Given the description of an element on the screen output the (x, y) to click on. 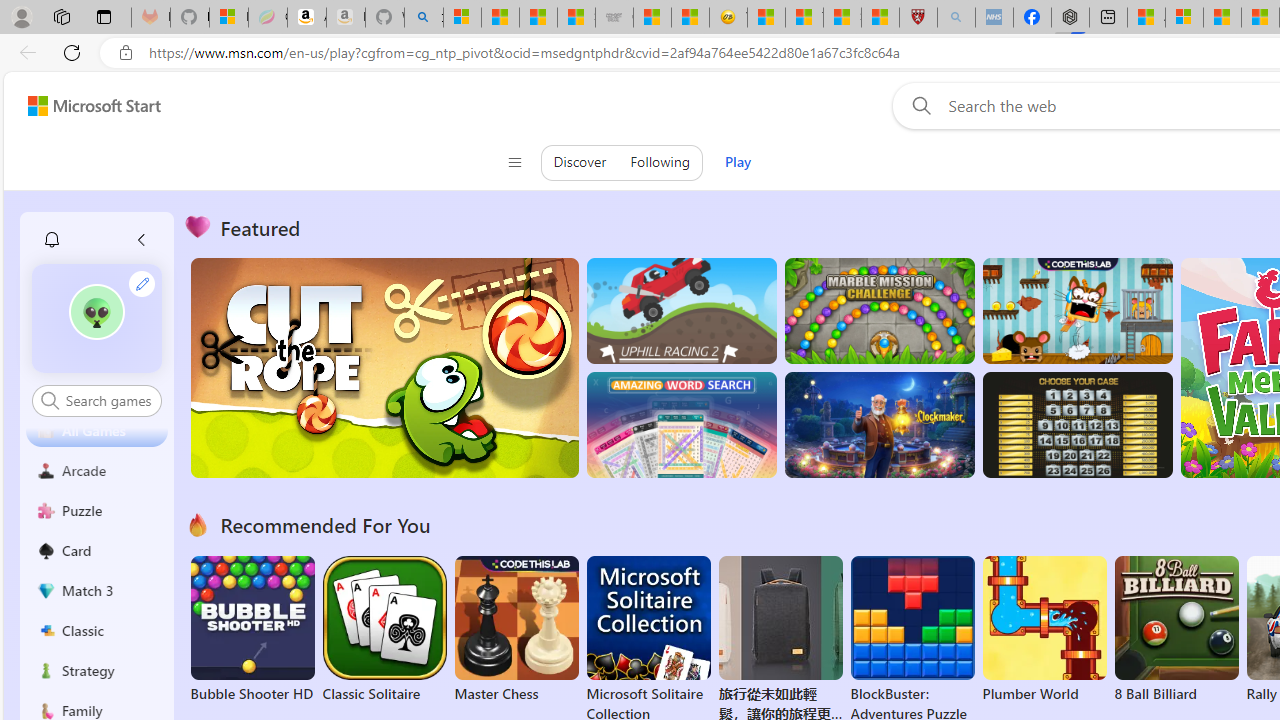
Skip to footer (82, 105)
Science - MSN (842, 17)
Classic Solitaire (384, 629)
Deal or No Deal (1076, 425)
Amazing Word Search (681, 425)
""'s avatar (96, 312)
Master Chess (516, 629)
